Given the description of an element on the screen output the (x, y) to click on. 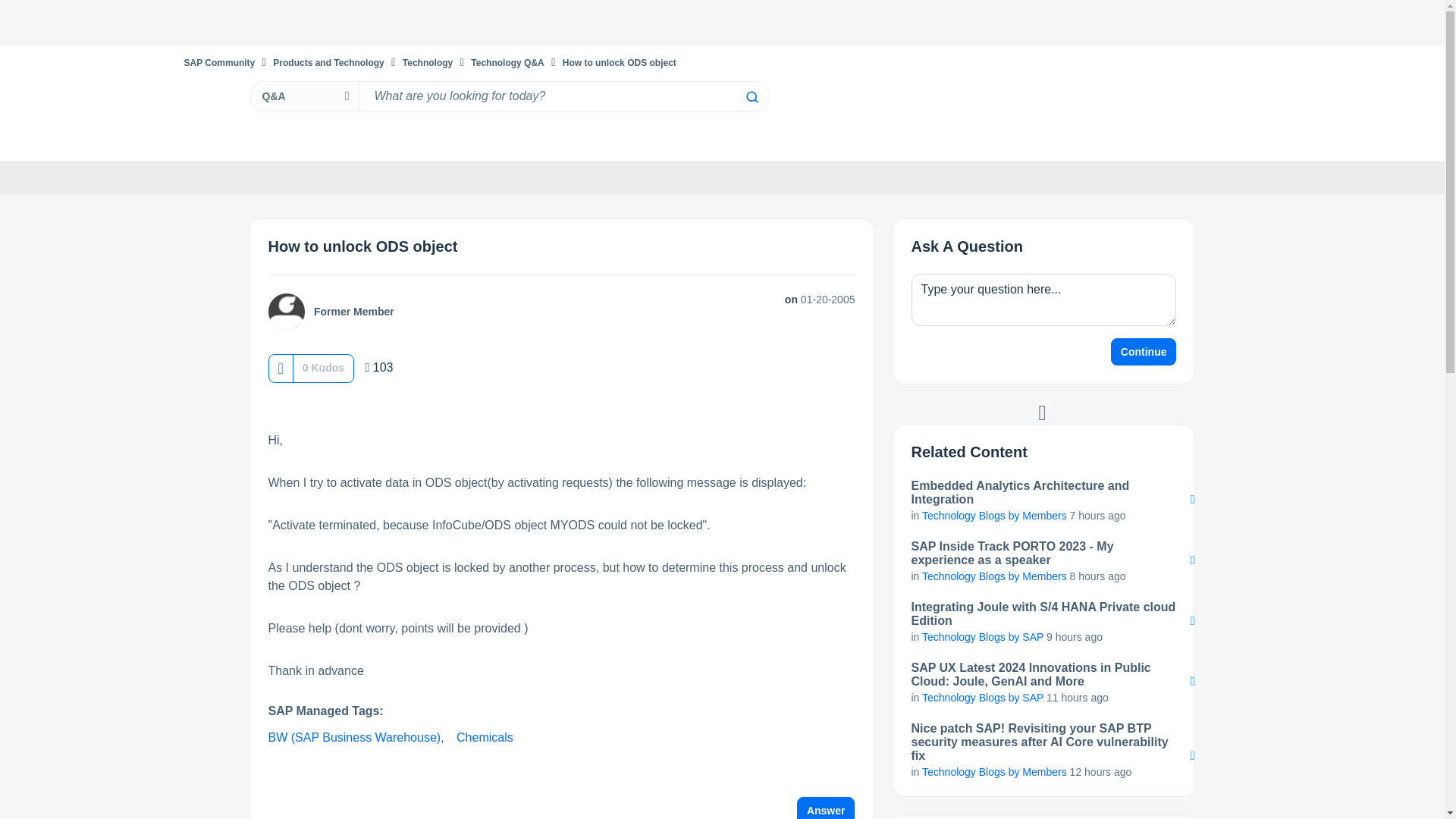
The total number of kudos this post has received. (323, 367)
Search (750, 96)
Search (750, 96)
Products and Technology (328, 62)
Search (563, 96)
SAP Community (218, 62)
Technology (427, 62)
Embedded Analytics Architecture and Integration (1043, 492)
Click here to give kudos to this post. (279, 367)
Technology Blogs by Members (994, 515)
Search (750, 96)
SAP Inside Track PORTO 2023 - My experience as a speaker (1043, 553)
Continue (1143, 351)
Chemicals (485, 737)
Answer (826, 807)
